Given the description of an element on the screen output the (x, y) to click on. 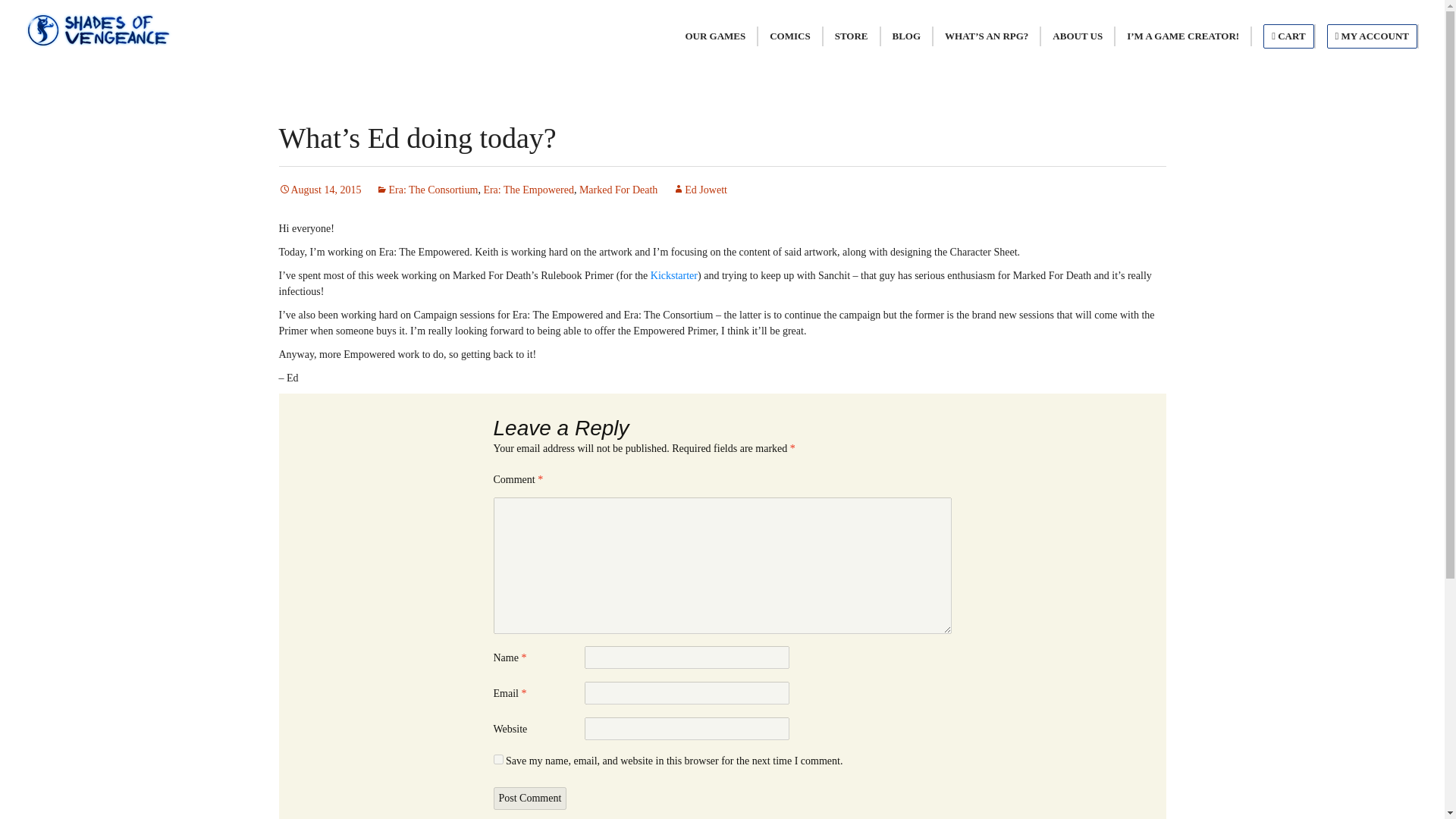
Ed Jowett (699, 189)
Era: The Consortium (426, 189)
August 14, 2015 (320, 189)
MY ACCOUNT (1371, 36)
Post Comment (529, 798)
Post Comment (529, 798)
OUR GAMES (714, 36)
ABOUT US (1077, 36)
Marked For Death (618, 189)
yes (497, 759)
Kickstarter (673, 275)
Era: The Empowered (528, 189)
COMICS (789, 36)
BLOG (906, 36)
CART (1288, 36)
